Given the description of an element on the screen output the (x, y) to click on. 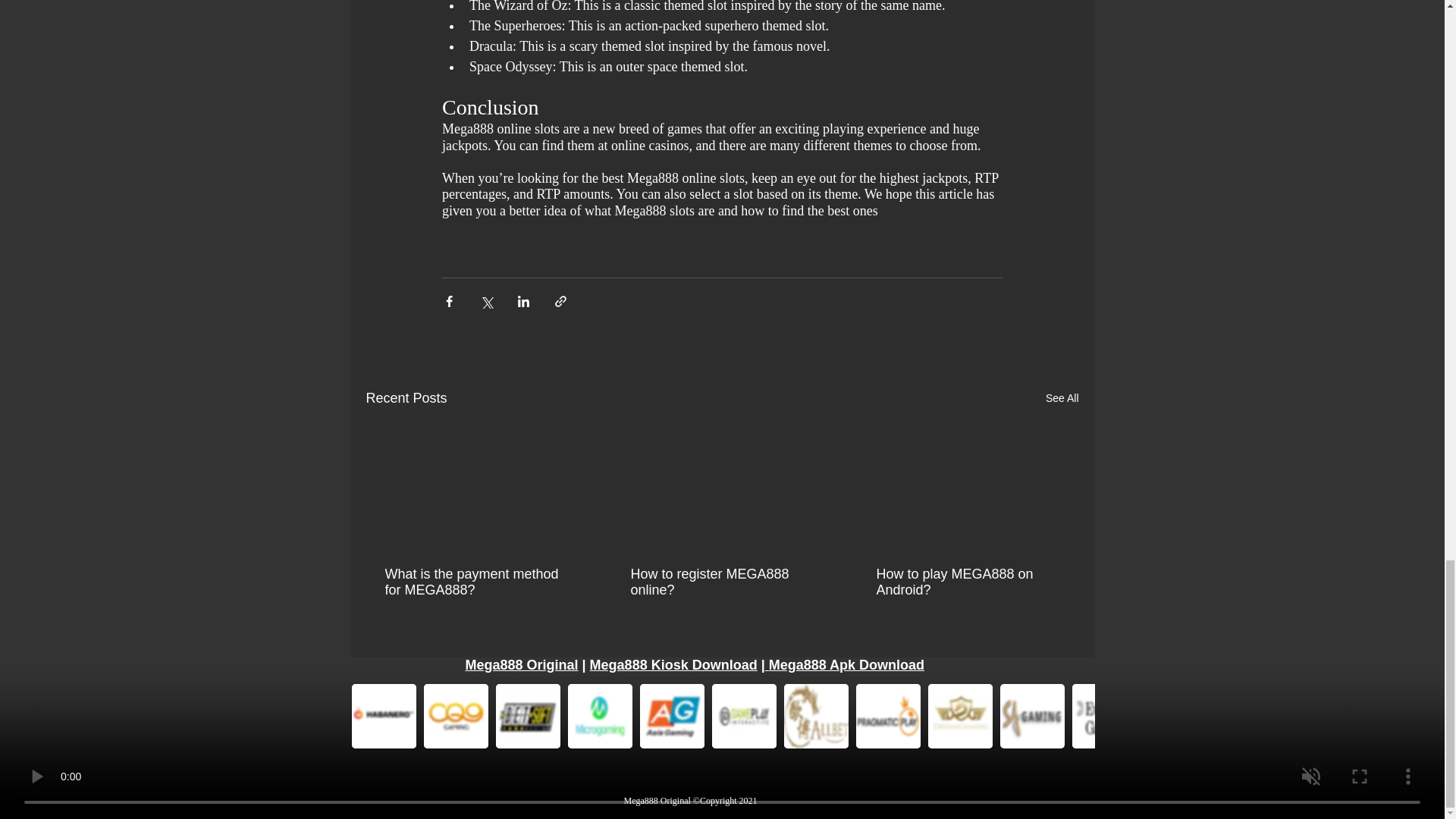
How to register MEGA888 online? (721, 582)
Mega888 Apk Download (846, 664)
Mega888 Original (521, 664)
How to play MEGA888 on Android? (967, 582)
Mega888 Kiosk Download (673, 664)
See All (1061, 398)
What is the payment method for MEGA888? (476, 582)
